Given the description of an element on the screen output the (x, y) to click on. 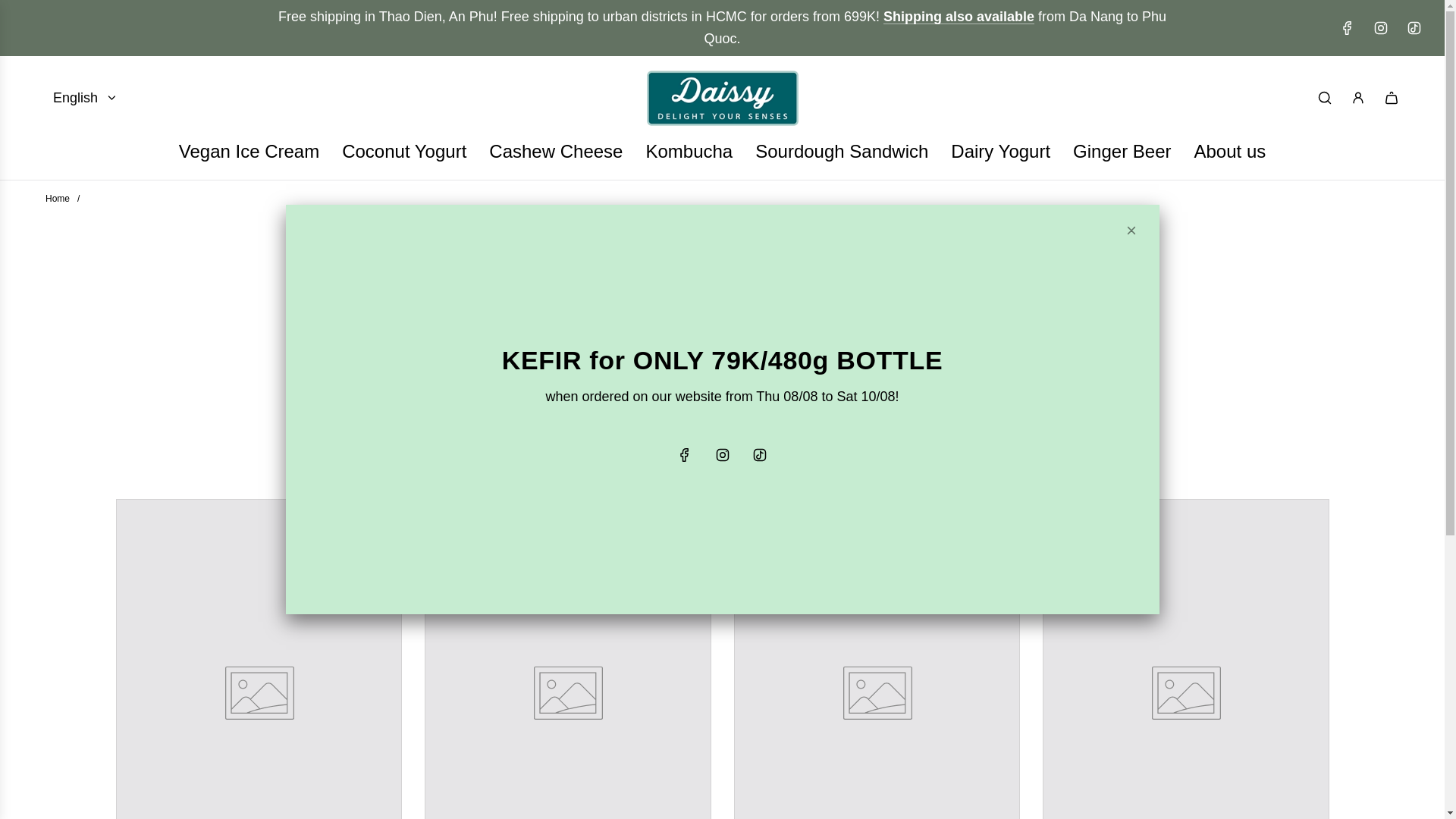
Shipping Policy (958, 16)
Shipping also available (958, 16)
Back to the frontpage (57, 198)
